Given the description of an element on the screen output the (x, y) to click on. 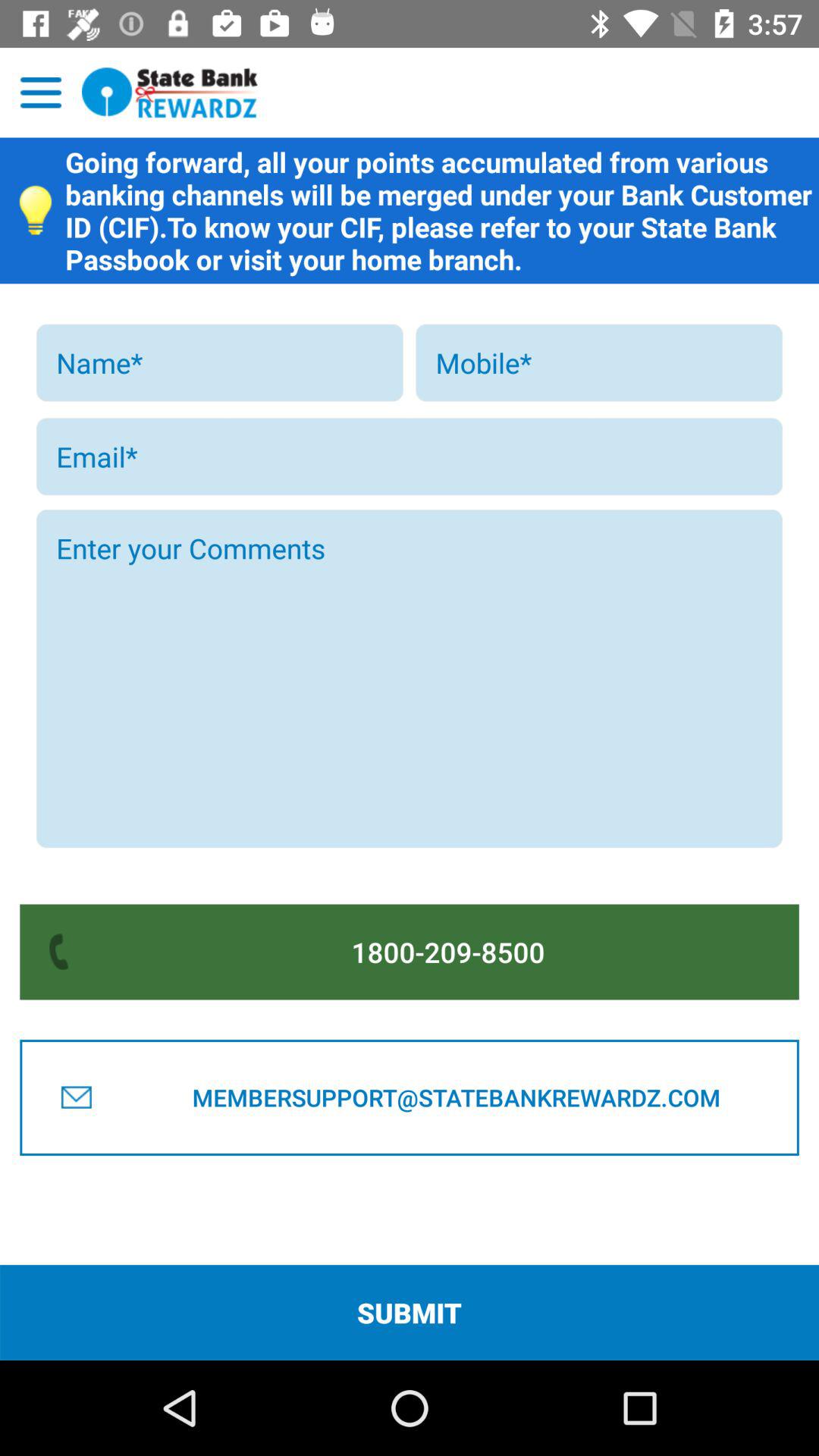
enter email address (409, 456)
